Given the description of an element on the screen output the (x, y) to click on. 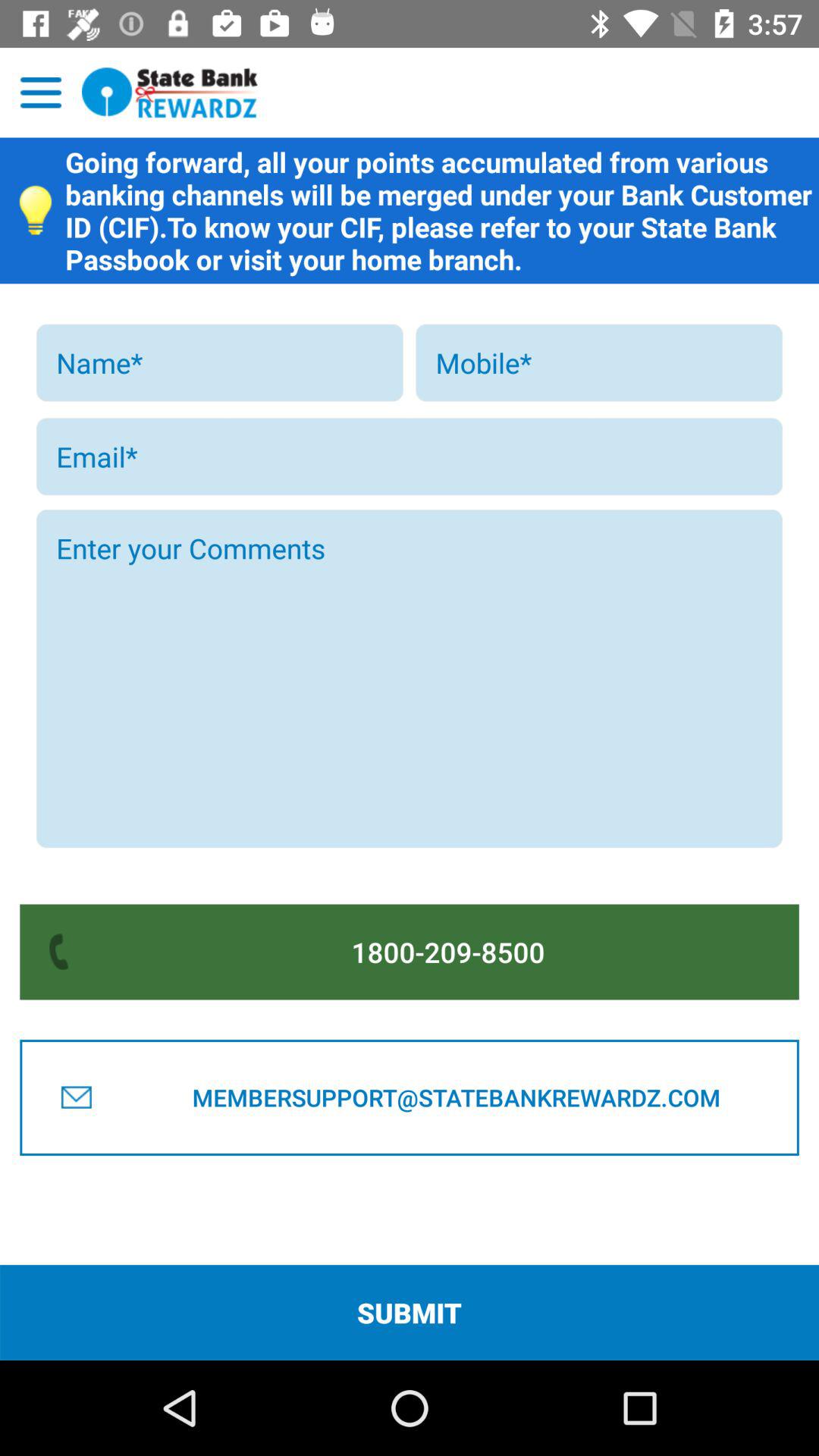
enter email address (409, 456)
